Given the description of an element on the screen output the (x, y) to click on. 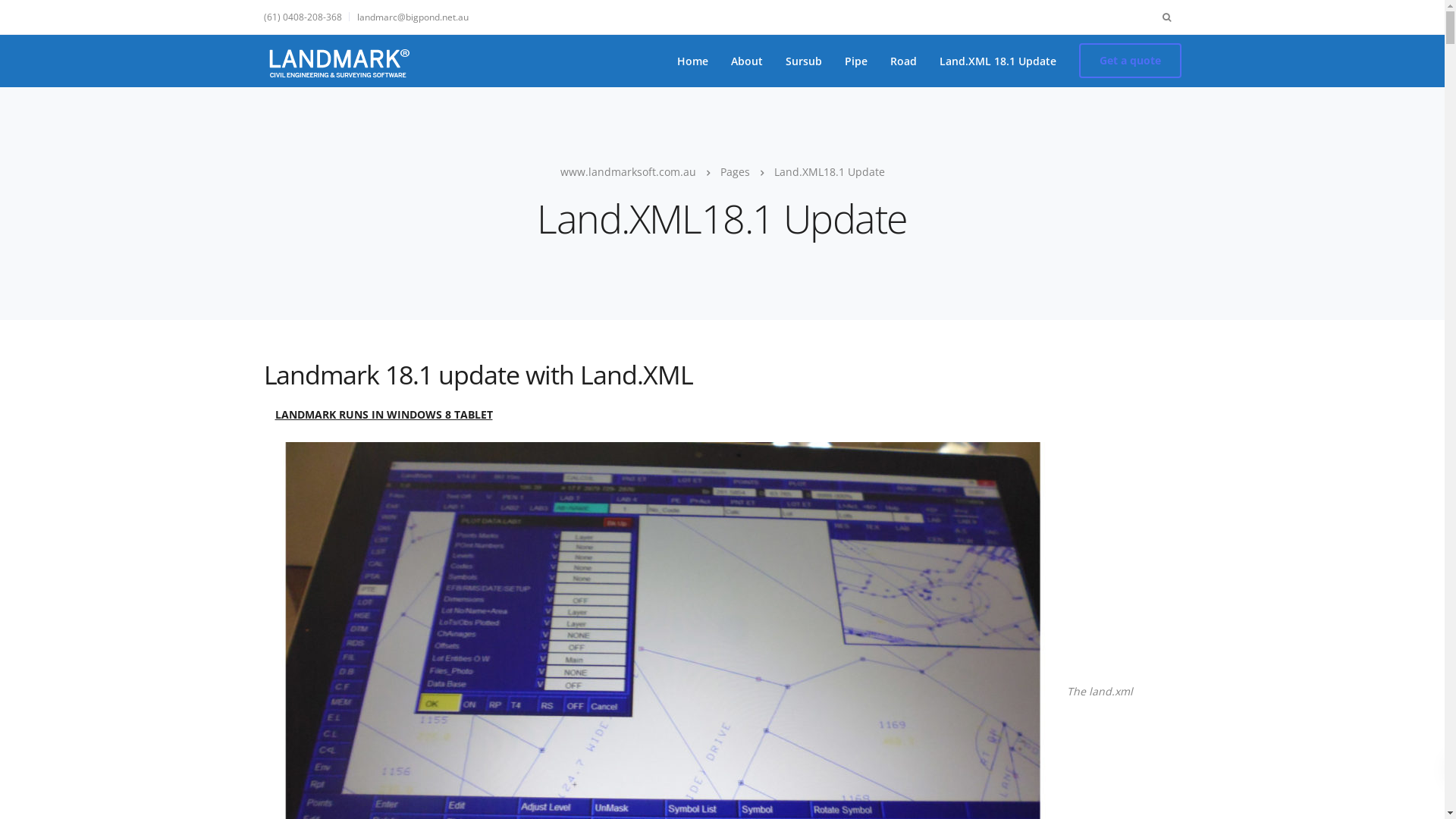
Pages Element type: text (734, 171)
Home Element type: text (692, 60)
(61) 0408-208-368 Element type: text (306, 16)
Land.XML 18.1 Update Element type: text (997, 60)
www.landmarksoft.com.au Element type: text (627, 171)
Pipe Element type: text (855, 60)
Get a quote Element type: text (1129, 60)
Sursub Element type: text (802, 60)
About Element type: text (745, 60)
Road Element type: text (902, 60)
landmarc@bigpond.net.au Element type: text (411, 16)
